Given the description of an element on the screen output the (x, y) to click on. 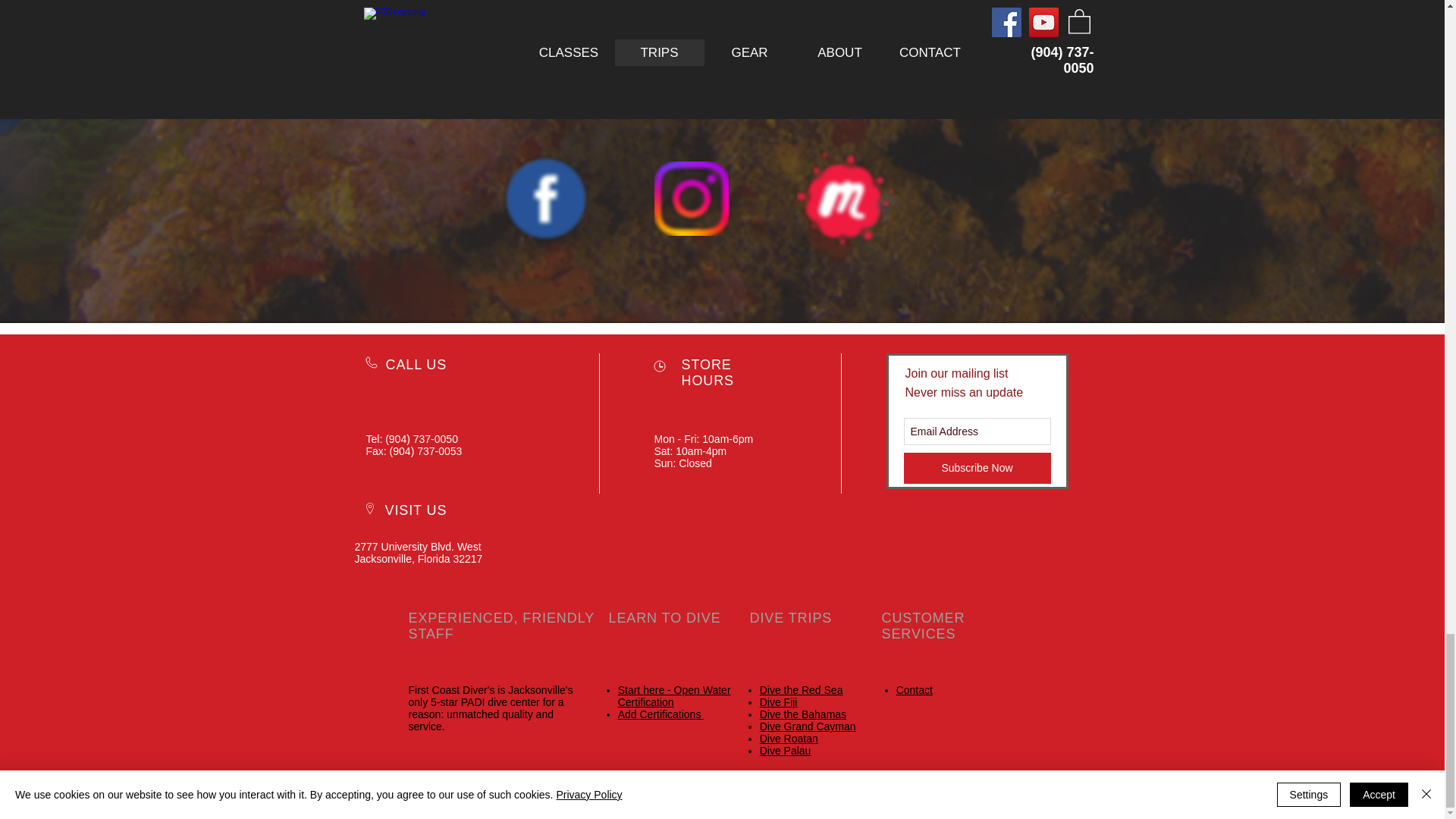
Subscribe Now (977, 468)
Dive the Red Sea (801, 689)
Start here - Open Water Certification (673, 695)
Add Certifications  (660, 714)
Dive the Bahamas (802, 714)
Dive Fiji (778, 702)
